Given the description of an element on the screen output the (x, y) to click on. 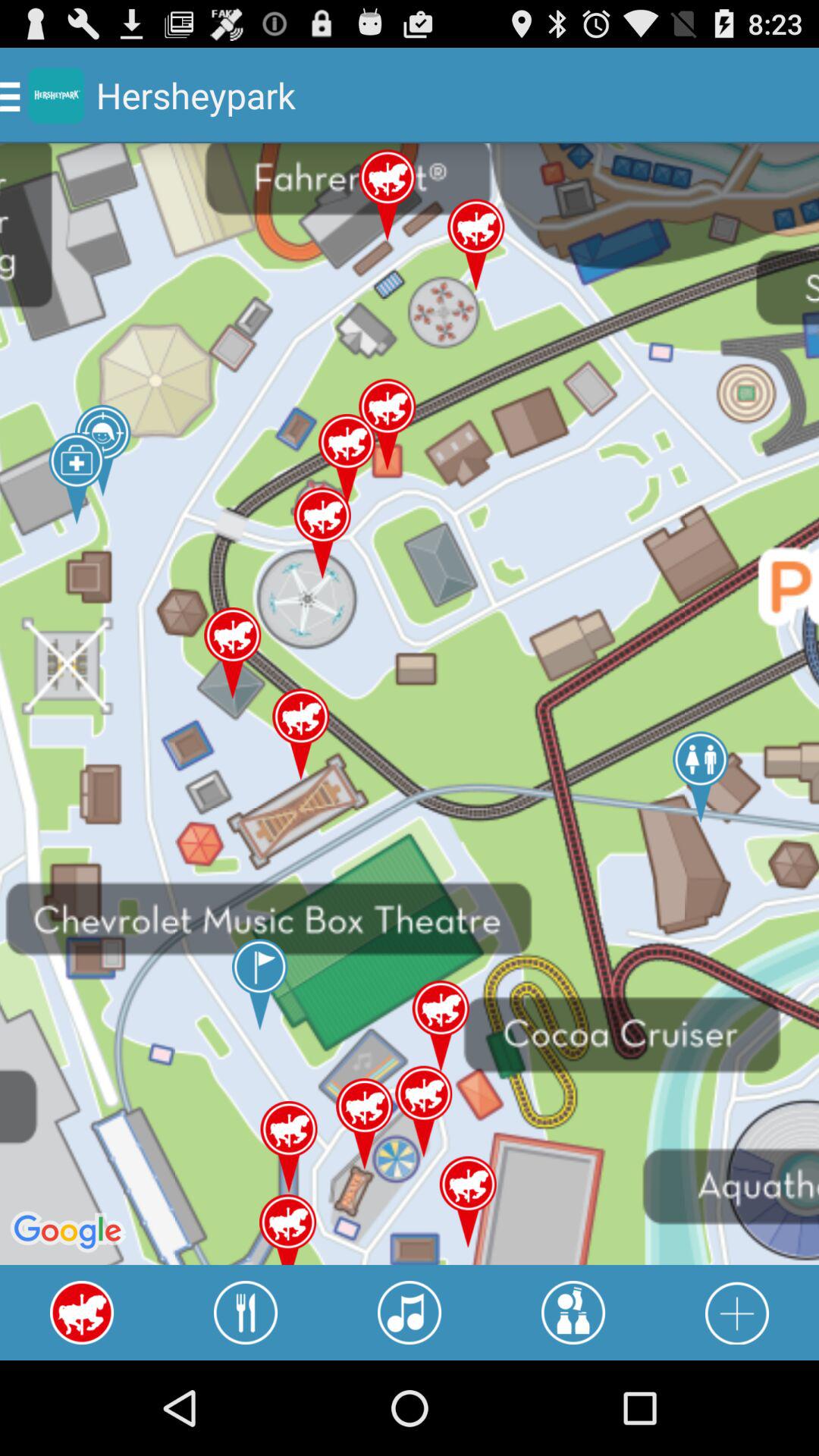
select icon at the bottom (409, 1312)
